Given the description of an element on the screen output the (x, y) to click on. 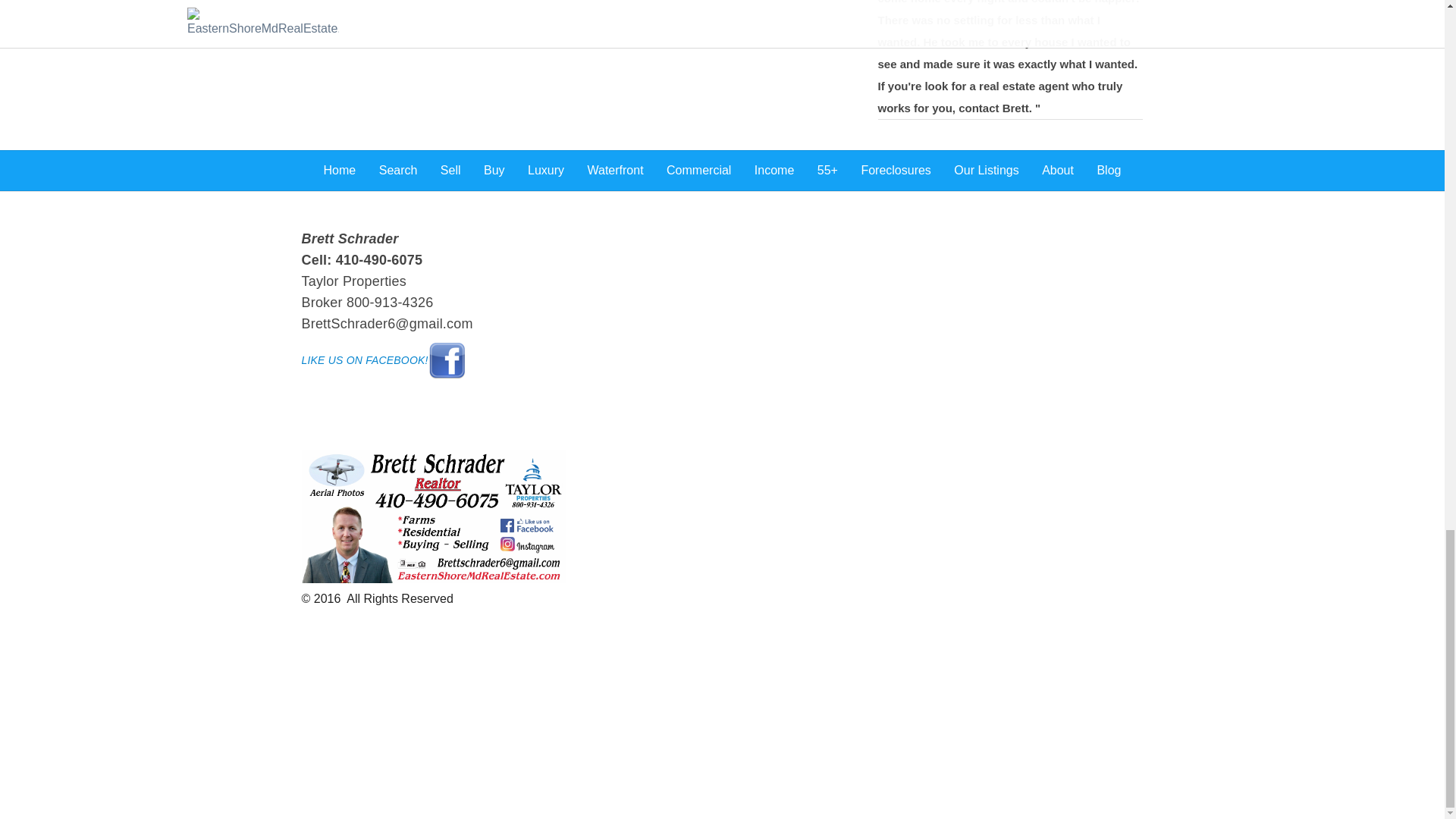
About (1058, 169)
Blog (1108, 169)
Our Listings (985, 169)
Waterfront (615, 169)
Income (773, 169)
LIKE US ON FACEBOOK! (383, 359)
Luxury (545, 169)
Buy (494, 169)
Sell (451, 169)
Home (339, 169)
Foreclosures (895, 169)
Search (397, 169)
Commercial (698, 169)
